Given the description of an element on the screen output the (x, y) to click on. 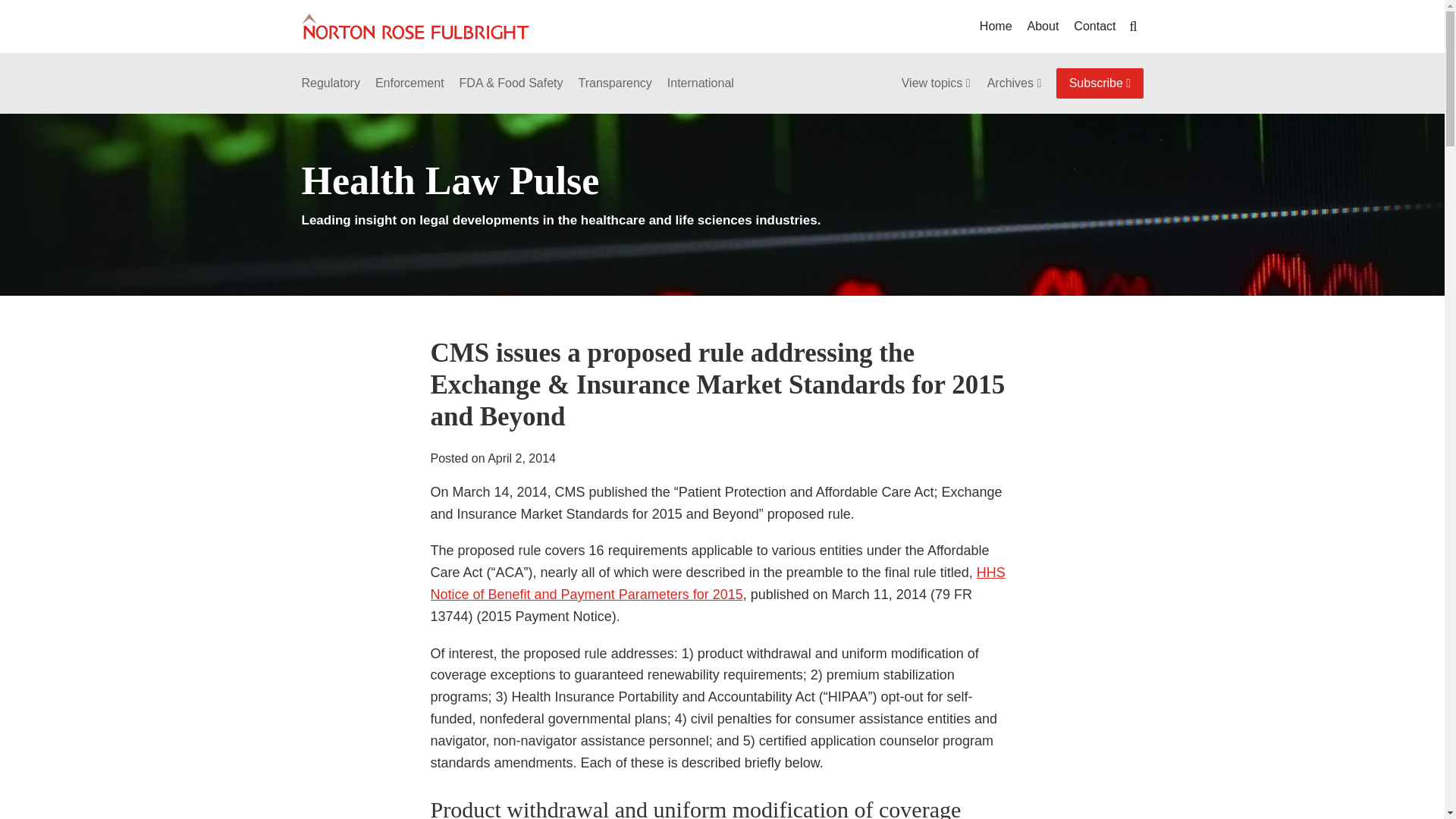
View topics (936, 83)
Home (995, 26)
Enforcement (409, 83)
Health Law Pulse (450, 180)
Regulatory (330, 83)
HHS Notice of Benefit and Payment Parameters for 2015 (718, 583)
Transparency (615, 83)
Contact (1094, 26)
About (1043, 26)
Subscribe (1099, 82)
International (699, 83)
Archives (1015, 83)
